Given the description of an element on the screen output the (x, y) to click on. 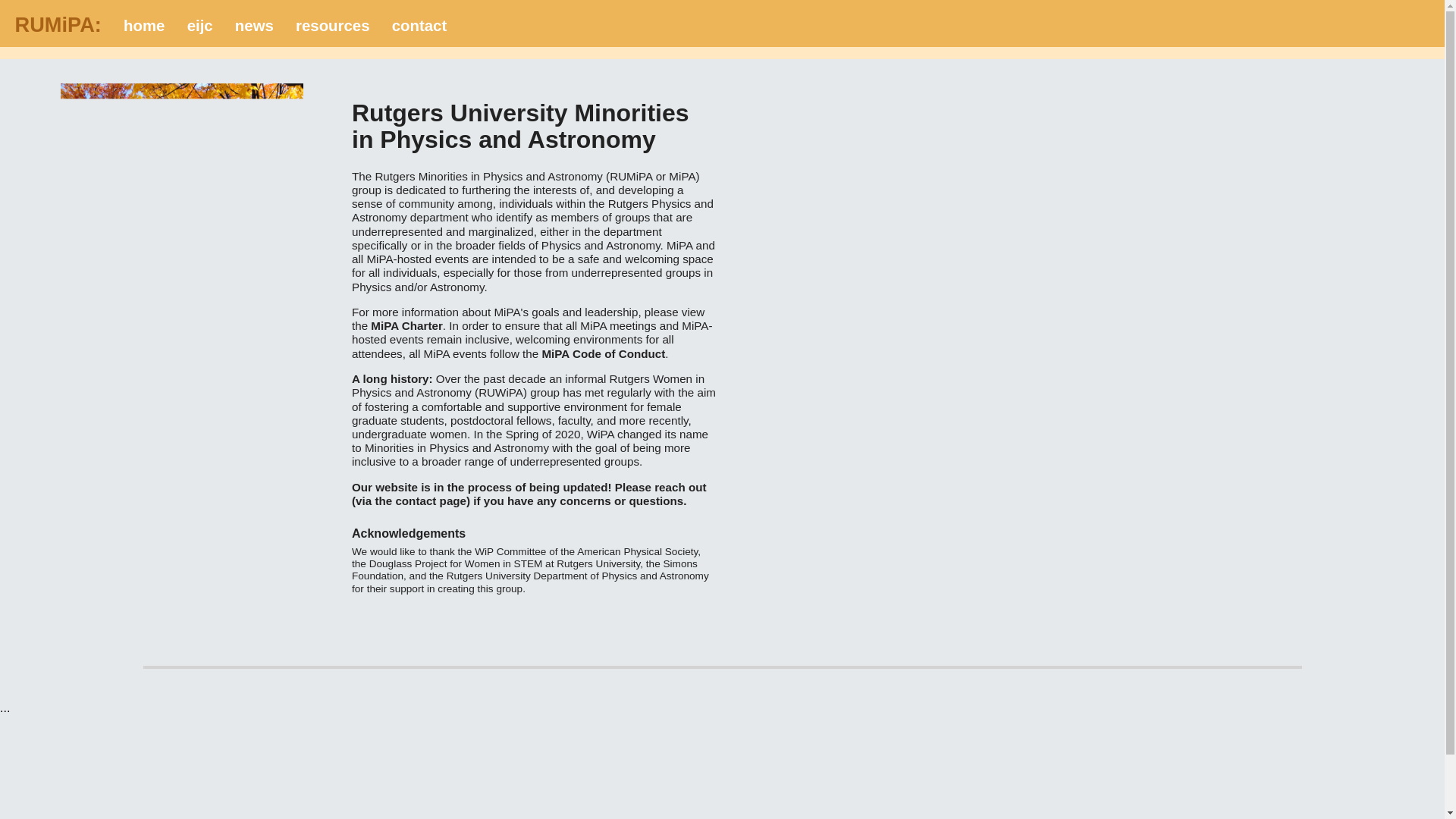
news (253, 25)
contact (418, 25)
eijc (199, 25)
home (143, 25)
MiPA Charter (406, 325)
resources (332, 25)
MiPA Code of Conduct (603, 353)
